Given the description of an element on the screen output the (x, y) to click on. 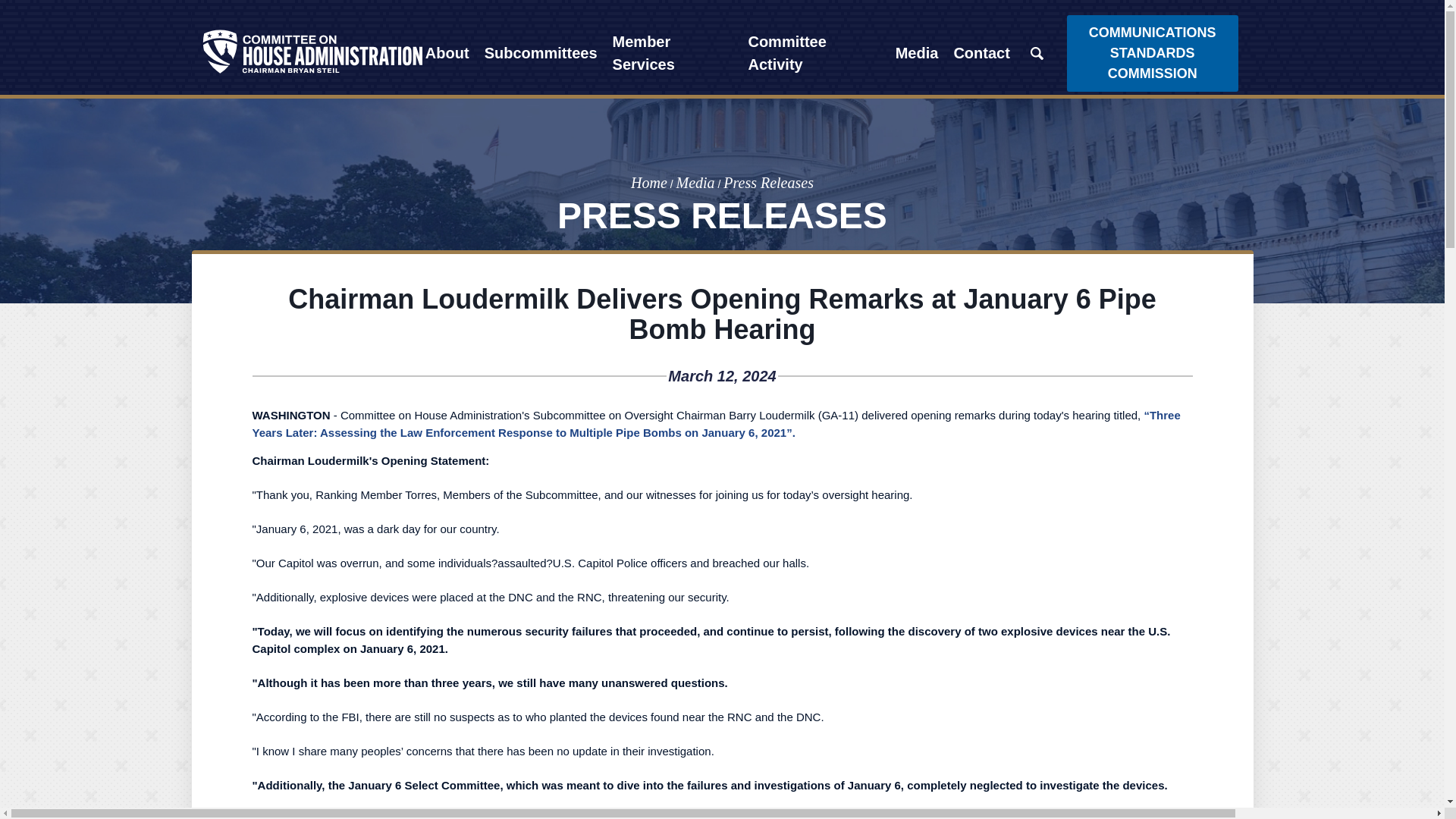
About (447, 52)
Contact (980, 52)
Committee Activity (812, 52)
Search (1036, 53)
Media (917, 52)
Member Services (673, 52)
Subcommittees (541, 52)
